Given the description of an element on the screen output the (x, y) to click on. 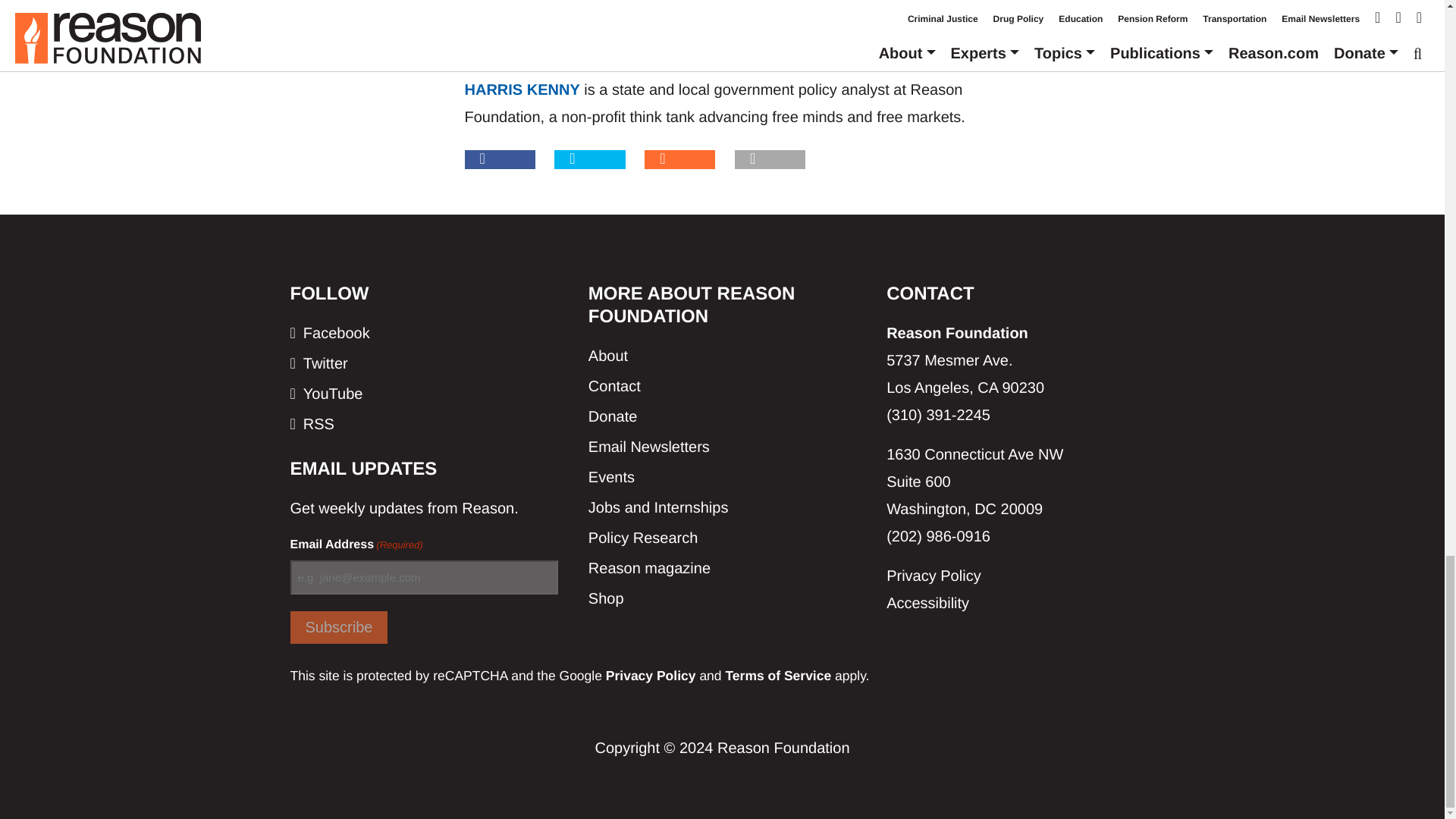
Subscribe (338, 626)
